Given the description of an element on the screen output the (x, y) to click on. 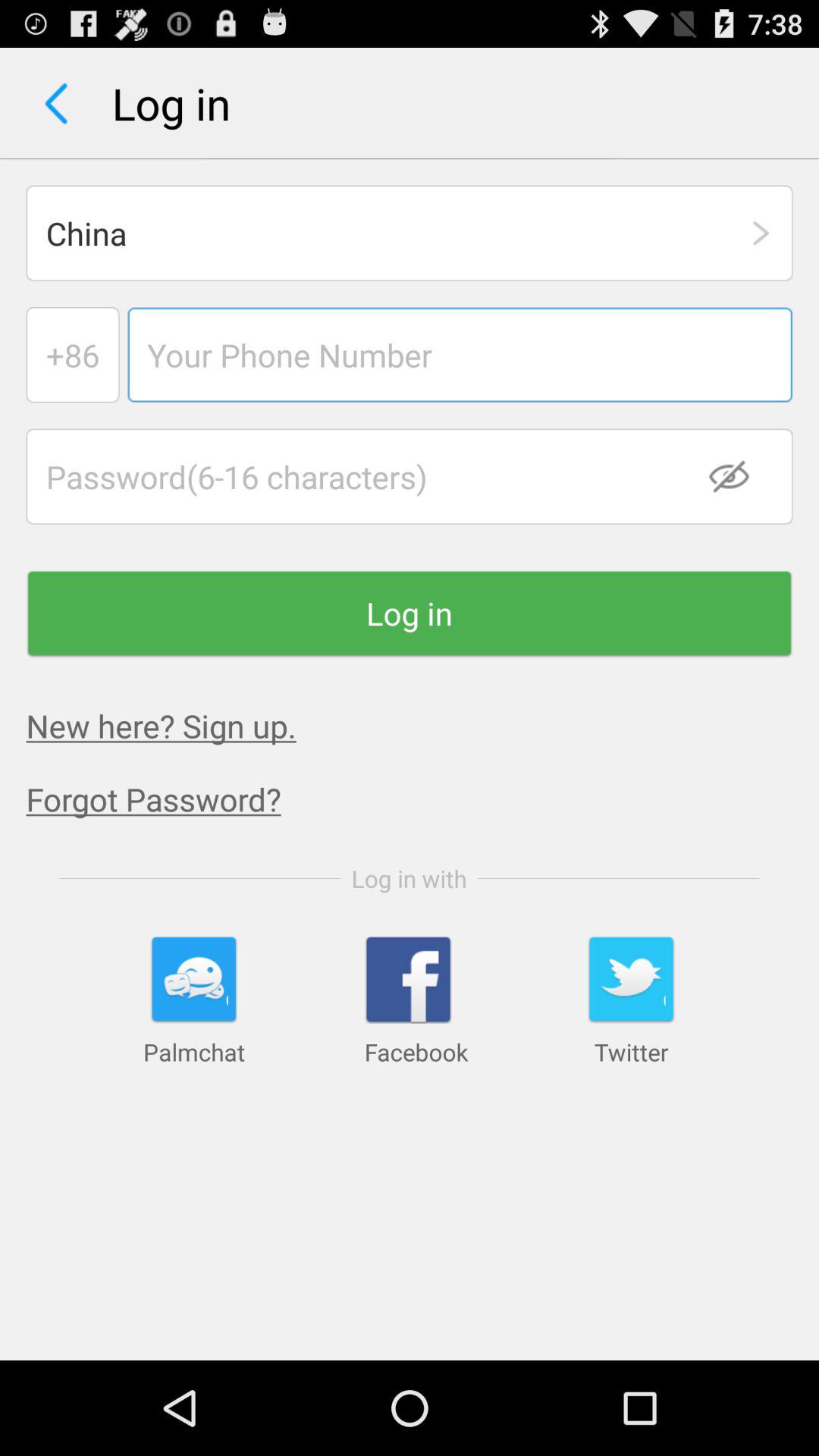
turn on the app below the new here sign app (422, 798)
